Given the description of an element on the screen output the (x, y) to click on. 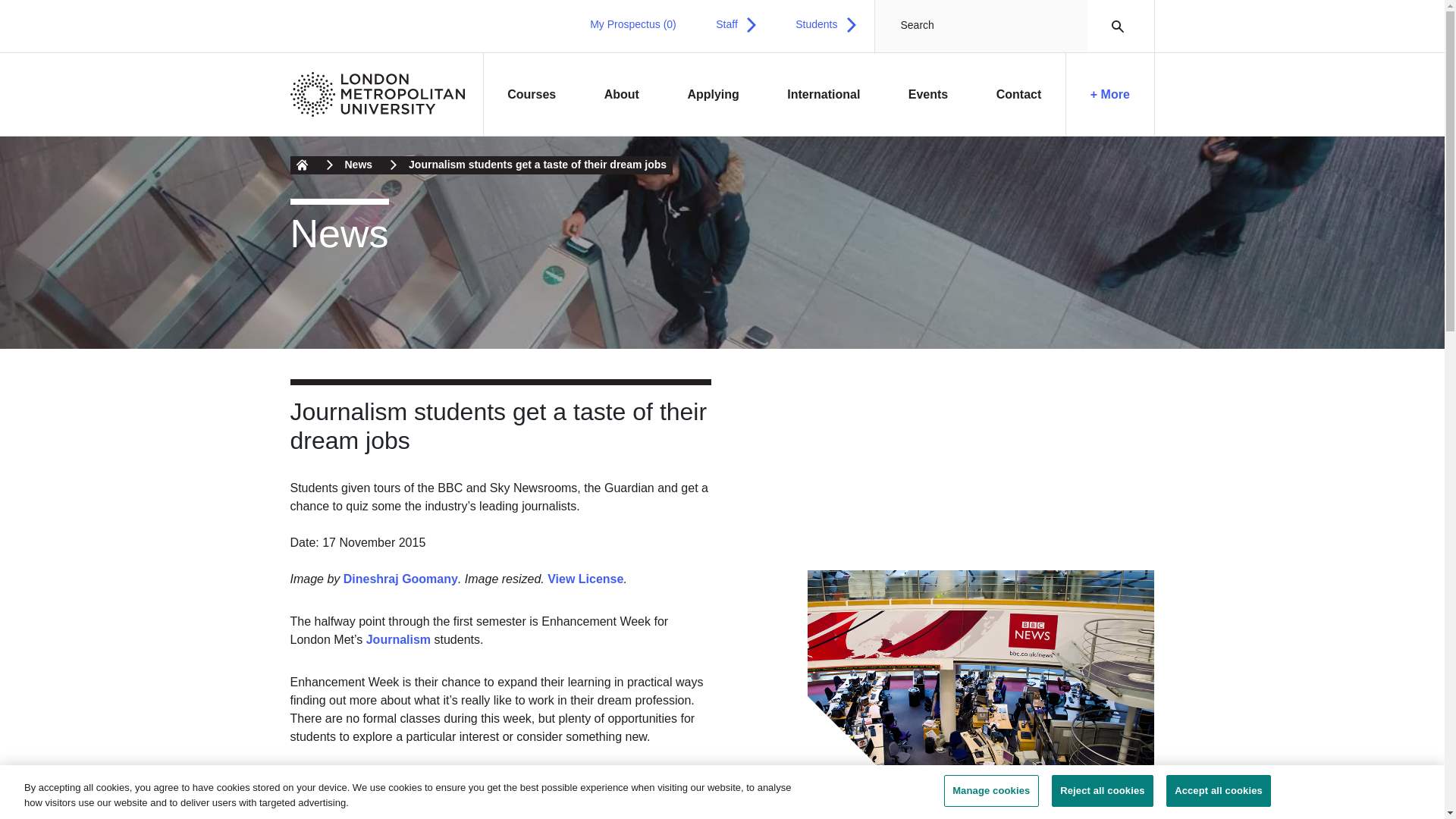
Courses (531, 94)
About (621, 94)
Staff (735, 24)
Search (1113, 26)
Students (825, 24)
Search (1113, 26)
Go to Dineshraj Goomany's photostream (400, 578)
